Given the description of an element on the screen output the (x, y) to click on. 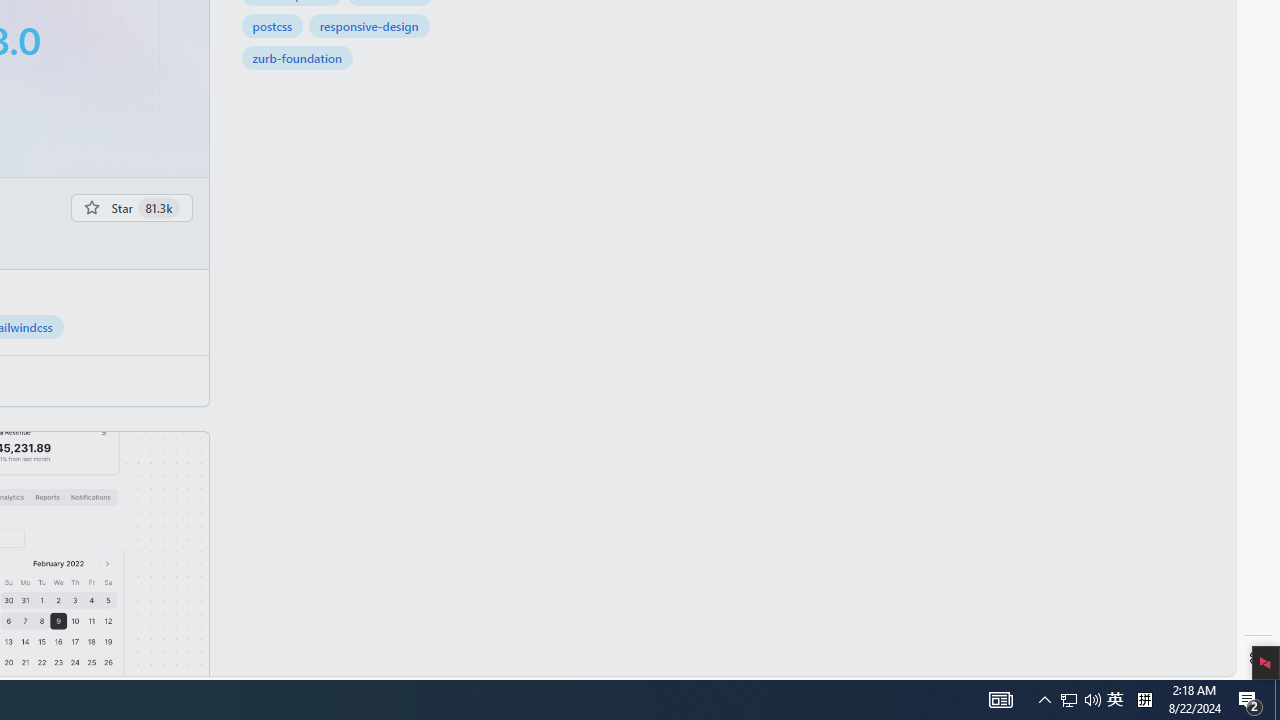
responsive-design (369, 25)
zurb-foundation (297, 57)
You must be signed in to star a repository (131, 207)
postcss (272, 25)
